Given the description of an element on the screen output the (x, y) to click on. 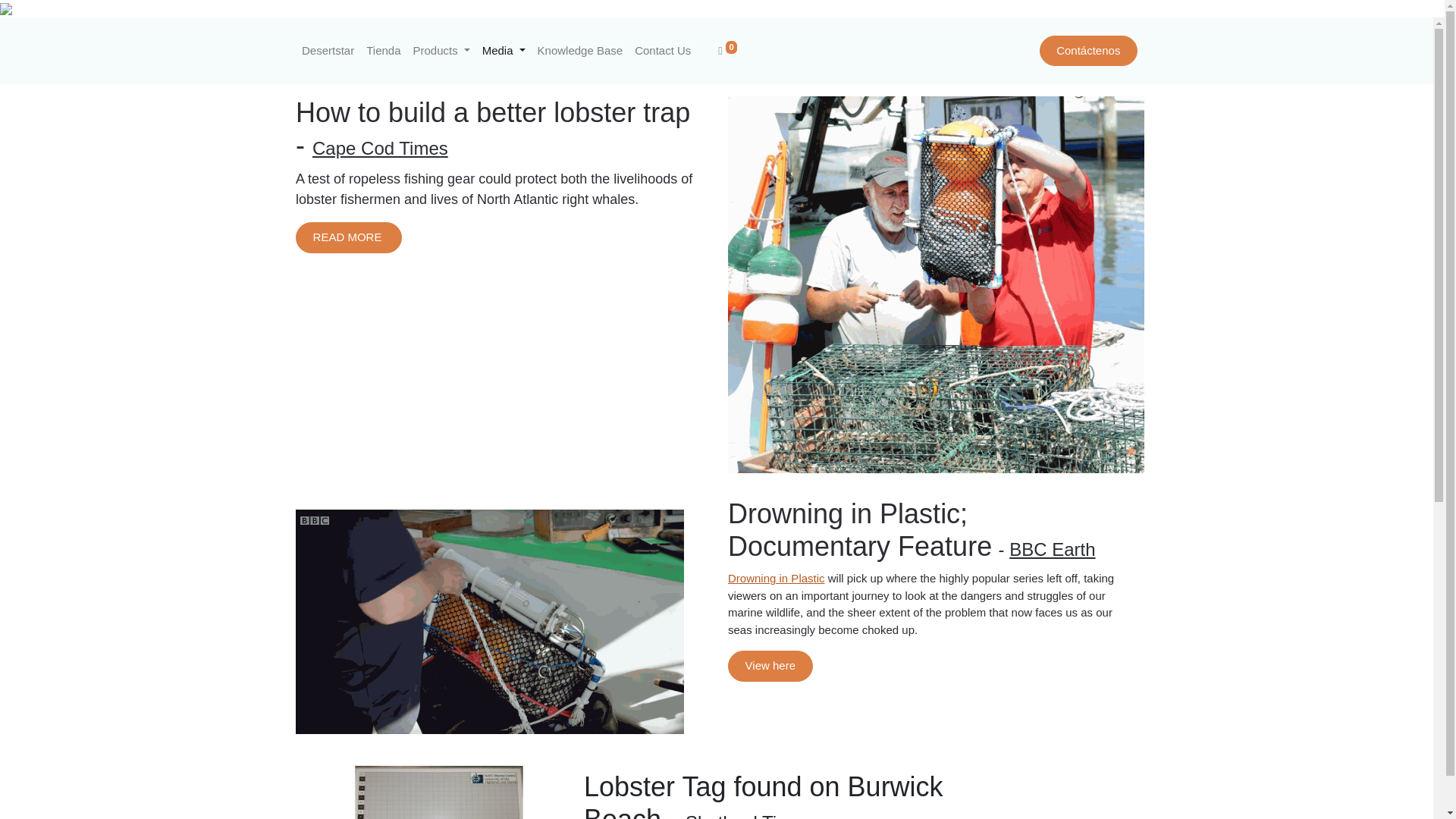
Products (441, 51)
Contact Us (662, 51)
0 (726, 51)
Media (503, 51)
Tienda (382, 51)
READ MORE  (348, 237)
View here (770, 665)
Knowledge Base (579, 51)
Desertstar (327, 51)
Drowning in Plastic (776, 577)
